Given the description of an element on the screen output the (x, y) to click on. 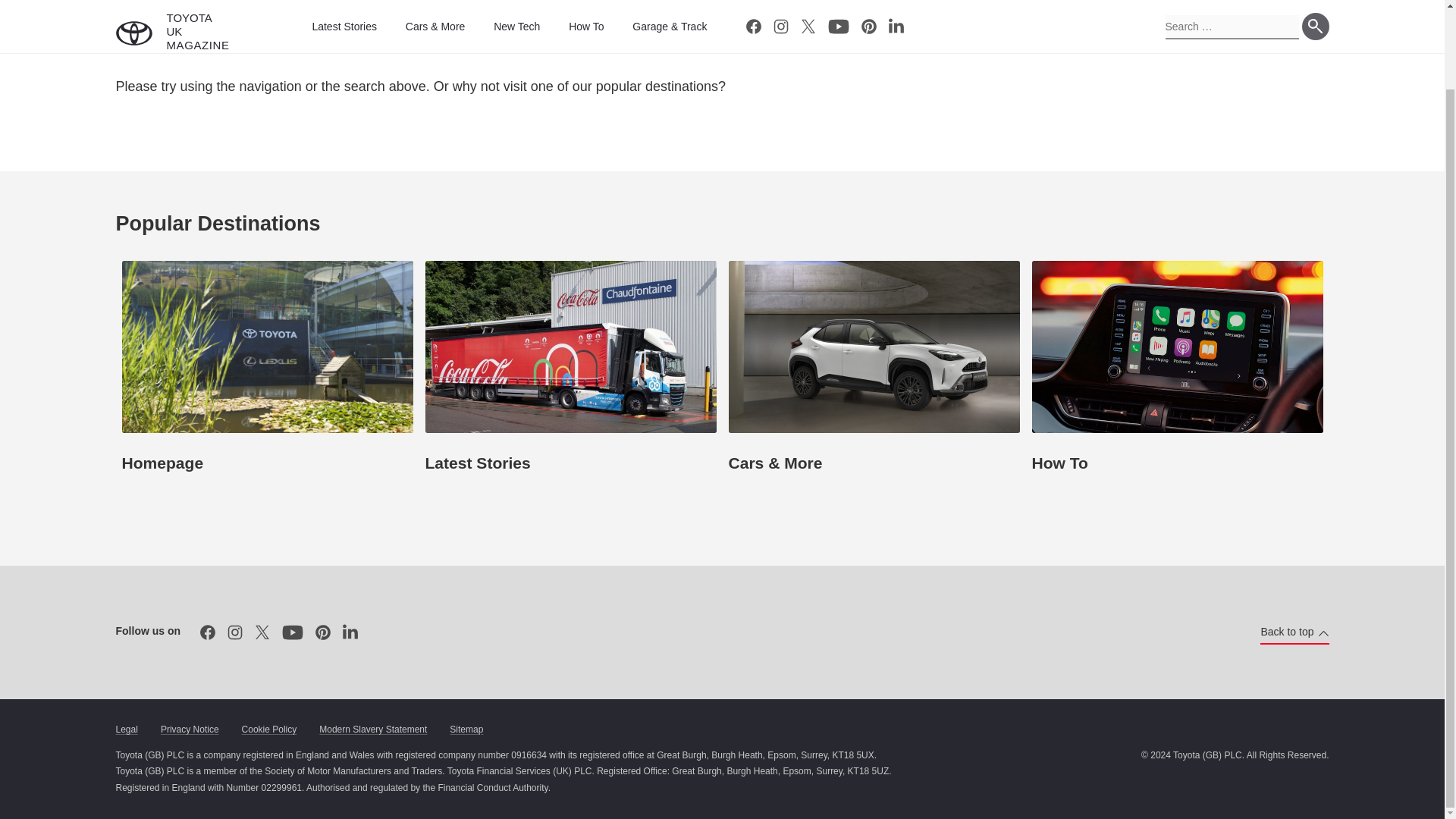
Cookie Policy (269, 729)
Facebook (207, 632)
Back to top (1294, 632)
Sitemap (466, 729)
Instagram (234, 632)
Pinterest (322, 632)
Youtube (292, 632)
Legal (125, 729)
Modern Slavery Statement (372, 729)
LinkedIn (350, 632)
